Given the description of an element on the screen output the (x, y) to click on. 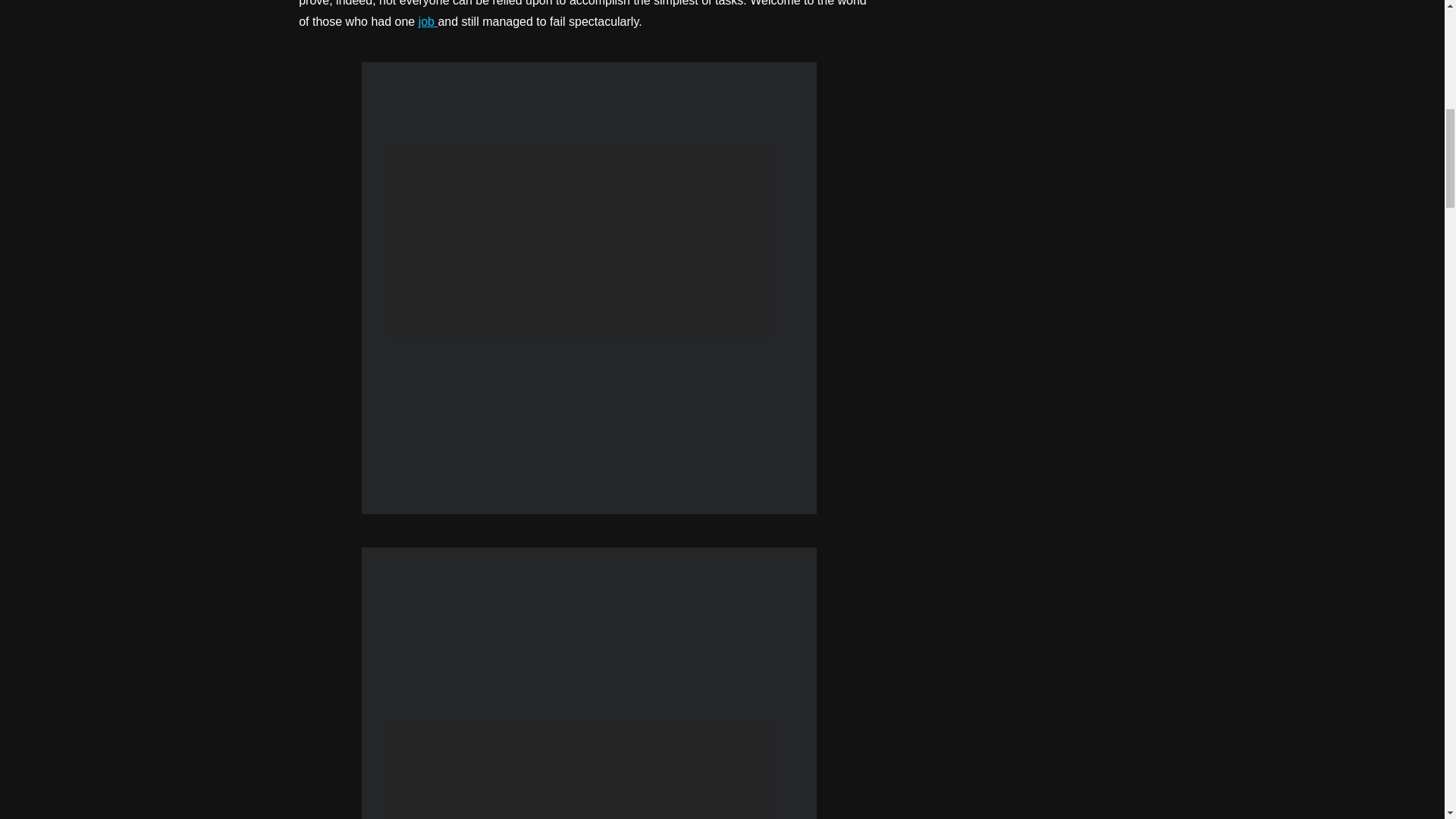
job (428, 21)
